Given the description of an element on the screen output the (x, y) to click on. 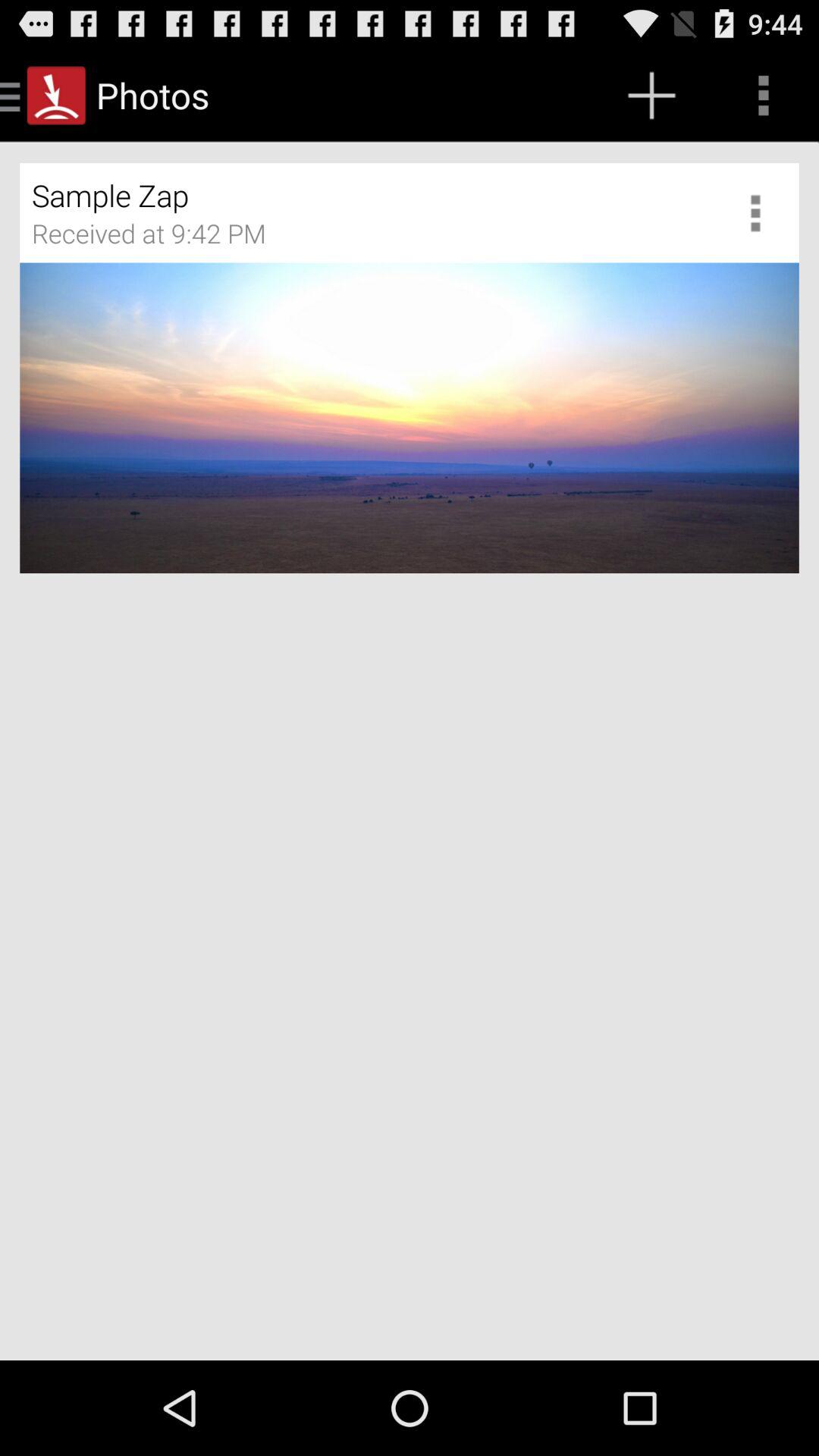
configuration button (761, 212)
